Given the description of an element on the screen output the (x, y) to click on. 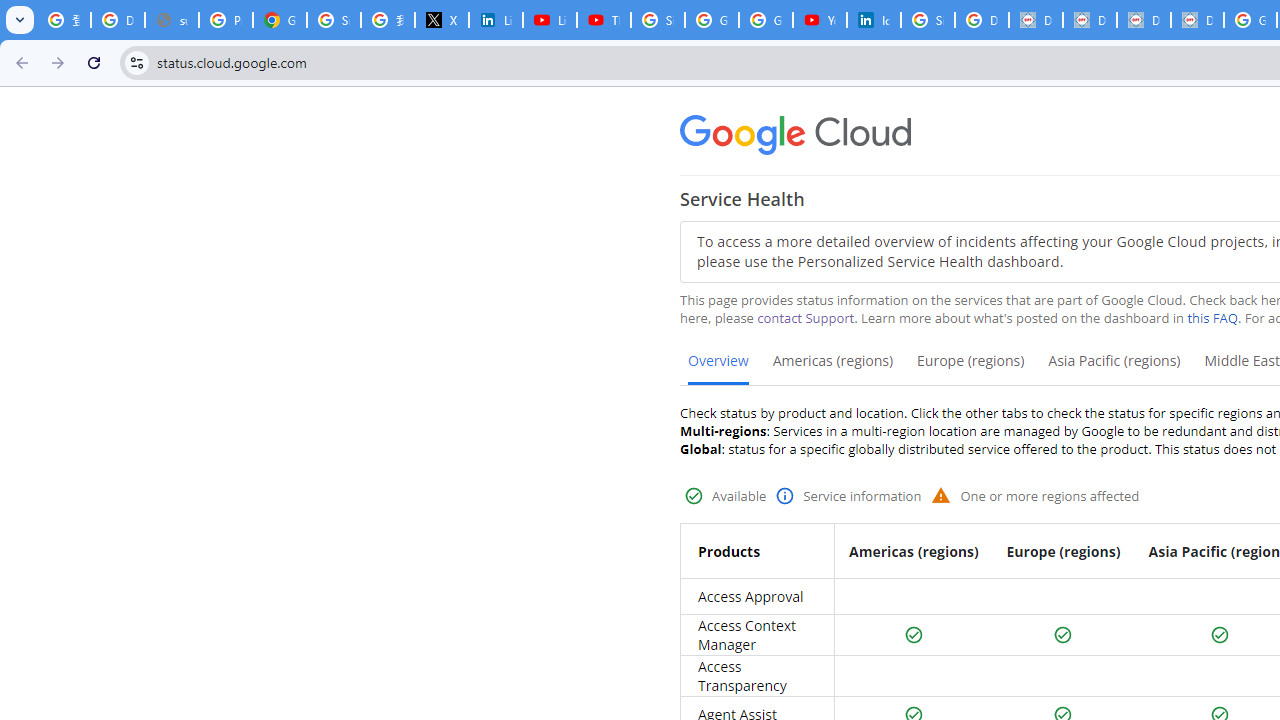
LinkedIn - YouTube (550, 20)
Available status (1220, 635)
Data Privacy Framework (1144, 20)
Sign in - Google Accounts (657, 20)
Data Privacy Framework (1089, 20)
Asia Pacific (regions) (1114, 368)
Europe (regions) (970, 368)
